Given the description of an element on the screen output the (x, y) to click on. 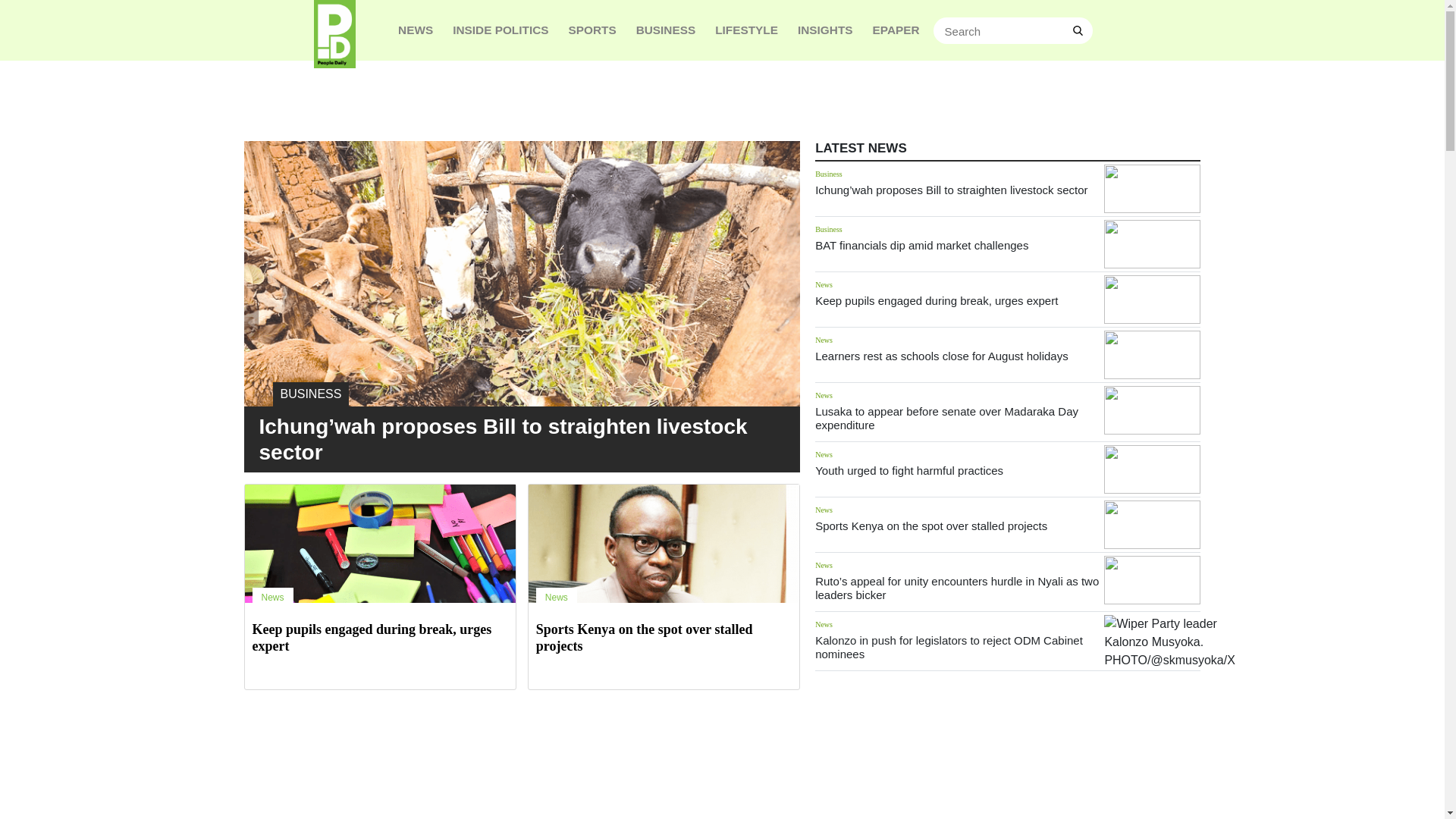
Learners rest as schools close for August holidays (1151, 354)
Keep pupils engaged during break, urges expert (936, 300)
Sports Kenya on the spot over stalled projects (930, 525)
LIFESTYLE (746, 30)
Sports Kenya on the spot over stalled projects (643, 637)
Lusaka to appear before senate over Madaraka Day expenditure (1151, 409)
Keep pupils engaged during break, urges expert (371, 637)
BAT financials dip amid market challenges (921, 245)
Lusaka to appear before senate over Madaraka Day expenditure (946, 417)
Learners rest as schools close for August holidays (941, 355)
Sports Kenya on the spot over stalled projects (1151, 524)
Youth urged to fight harmful practices (909, 470)
BUSINESS (665, 30)
Learners rest as schools close for August holidays (941, 355)
